Given the description of an element on the screen output the (x, y) to click on. 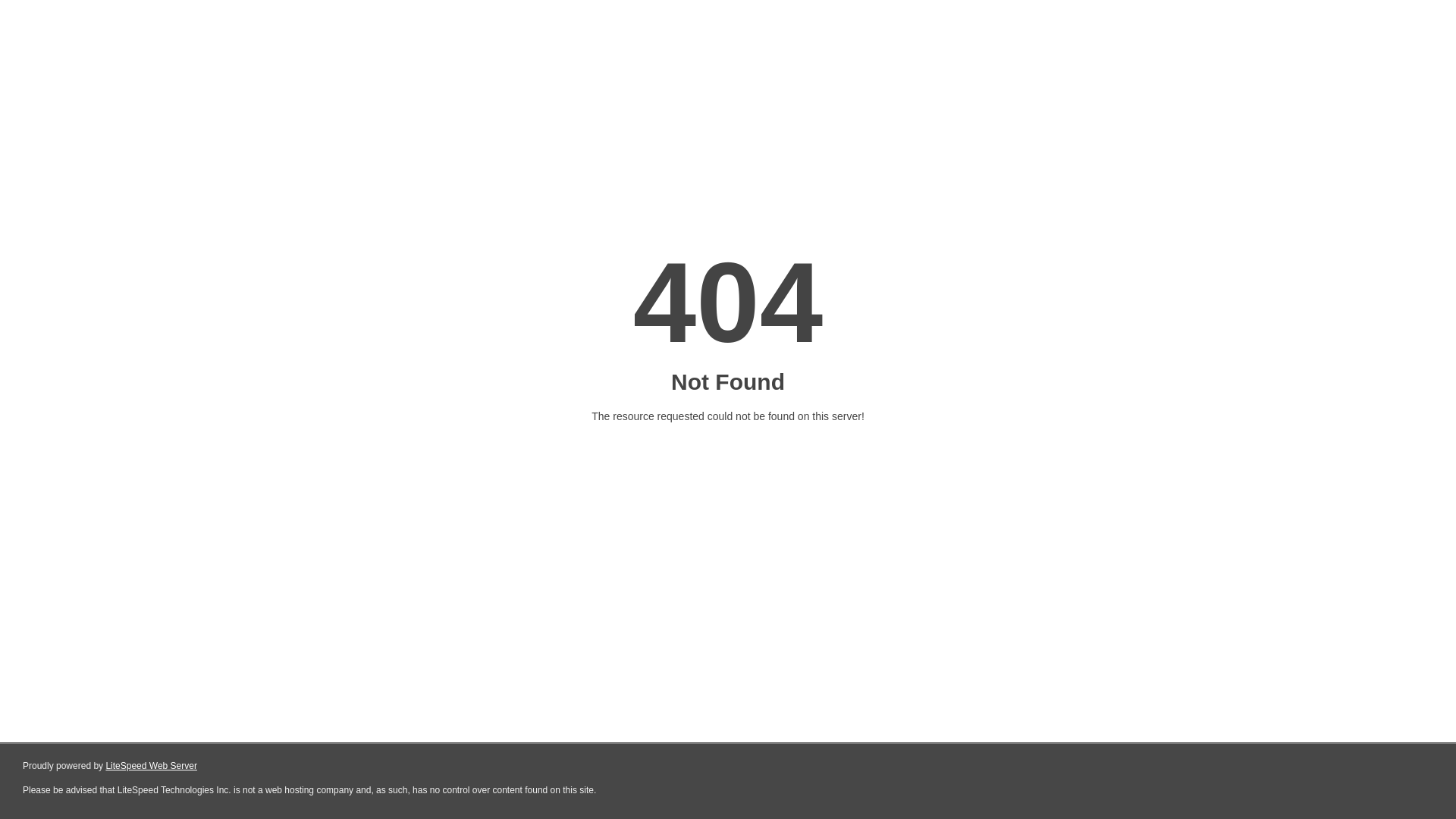
LiteSpeed Web Server Element type: text (151, 765)
